Given the description of an element on the screen output the (x, y) to click on. 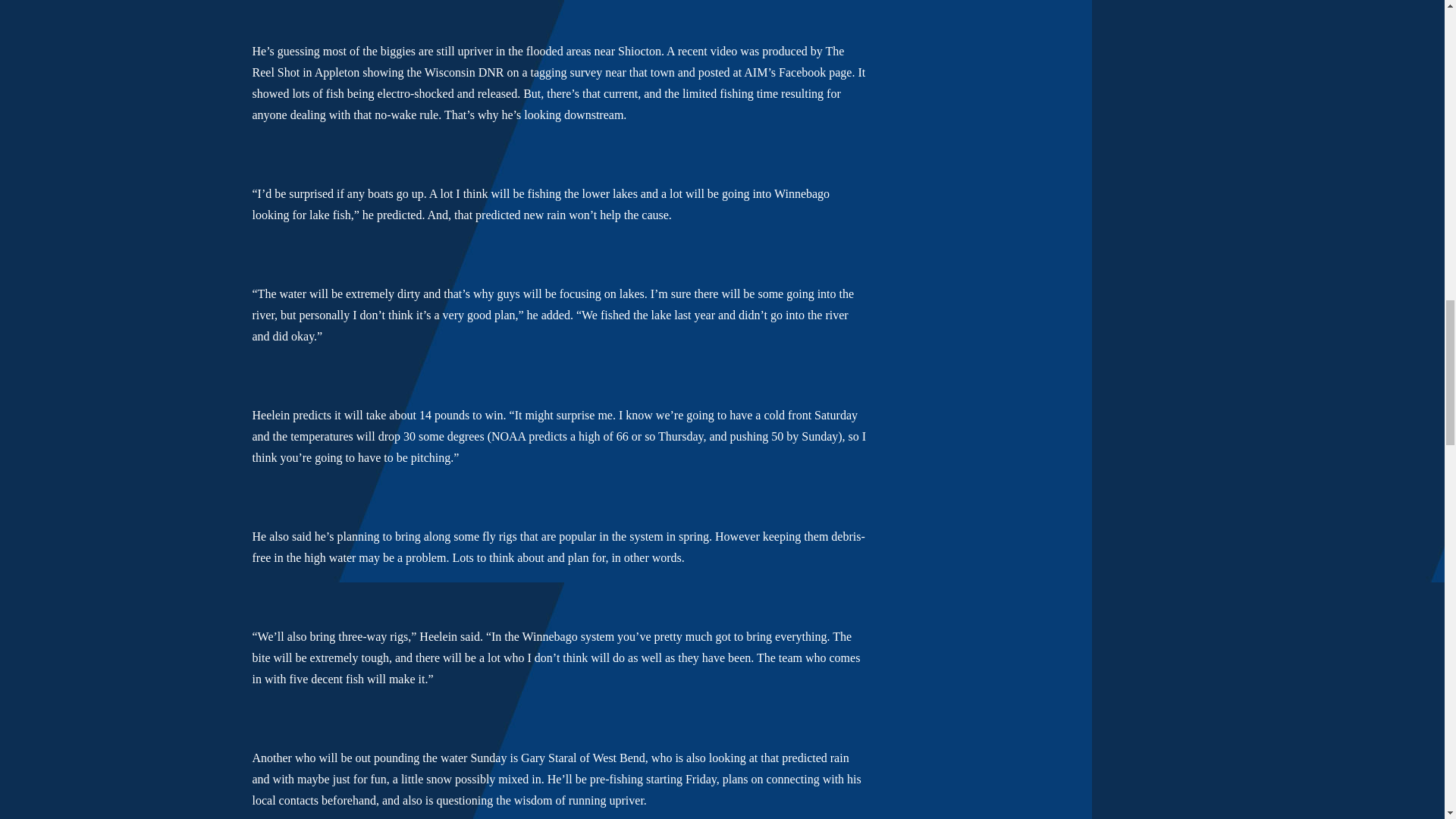
The Reel Shot (547, 61)
